Given the description of an element on the screen output the (x, y) to click on. 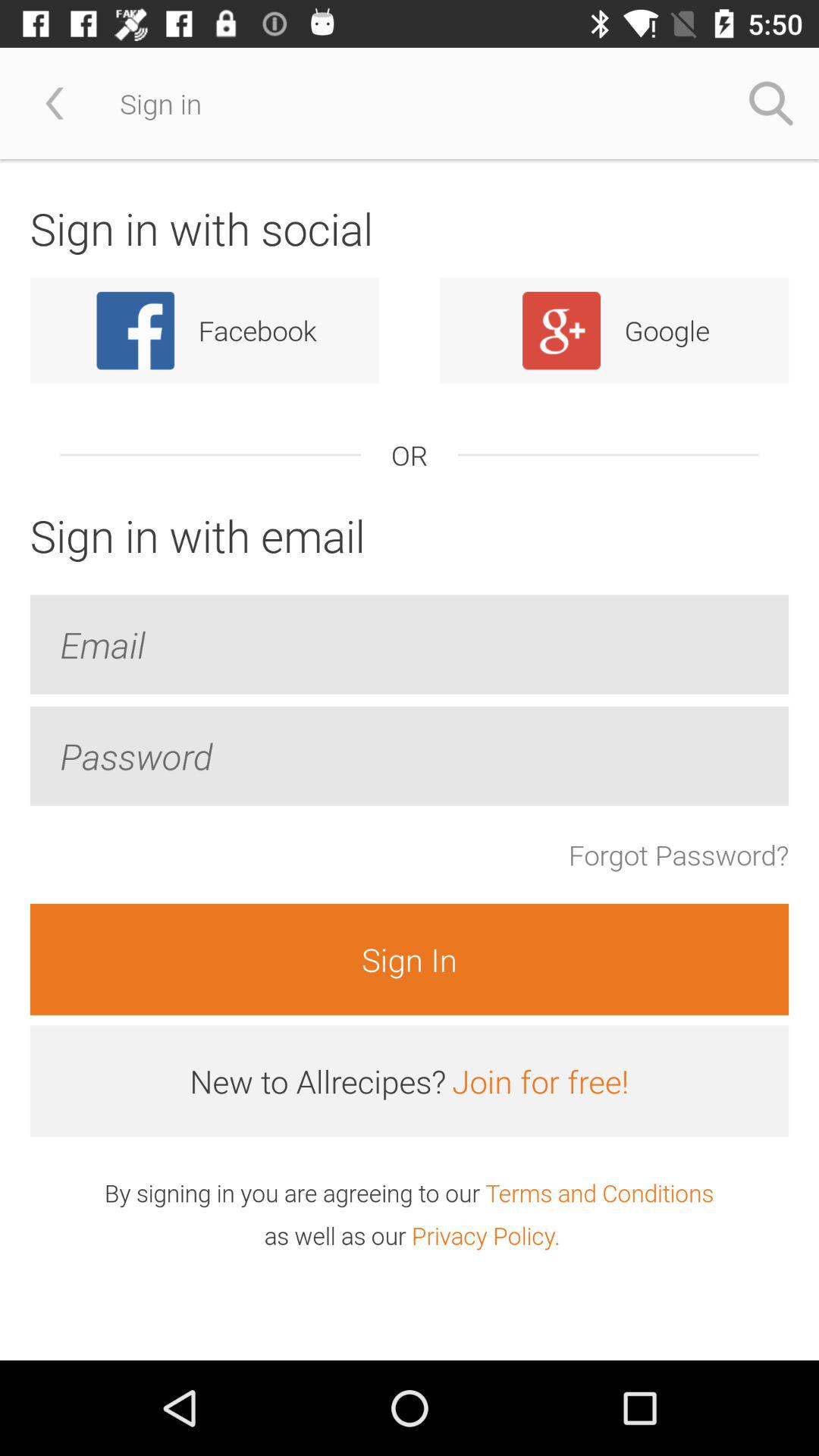
swipe to the forgot password? icon (678, 854)
